Given the description of an element on the screen output the (x, y) to click on. 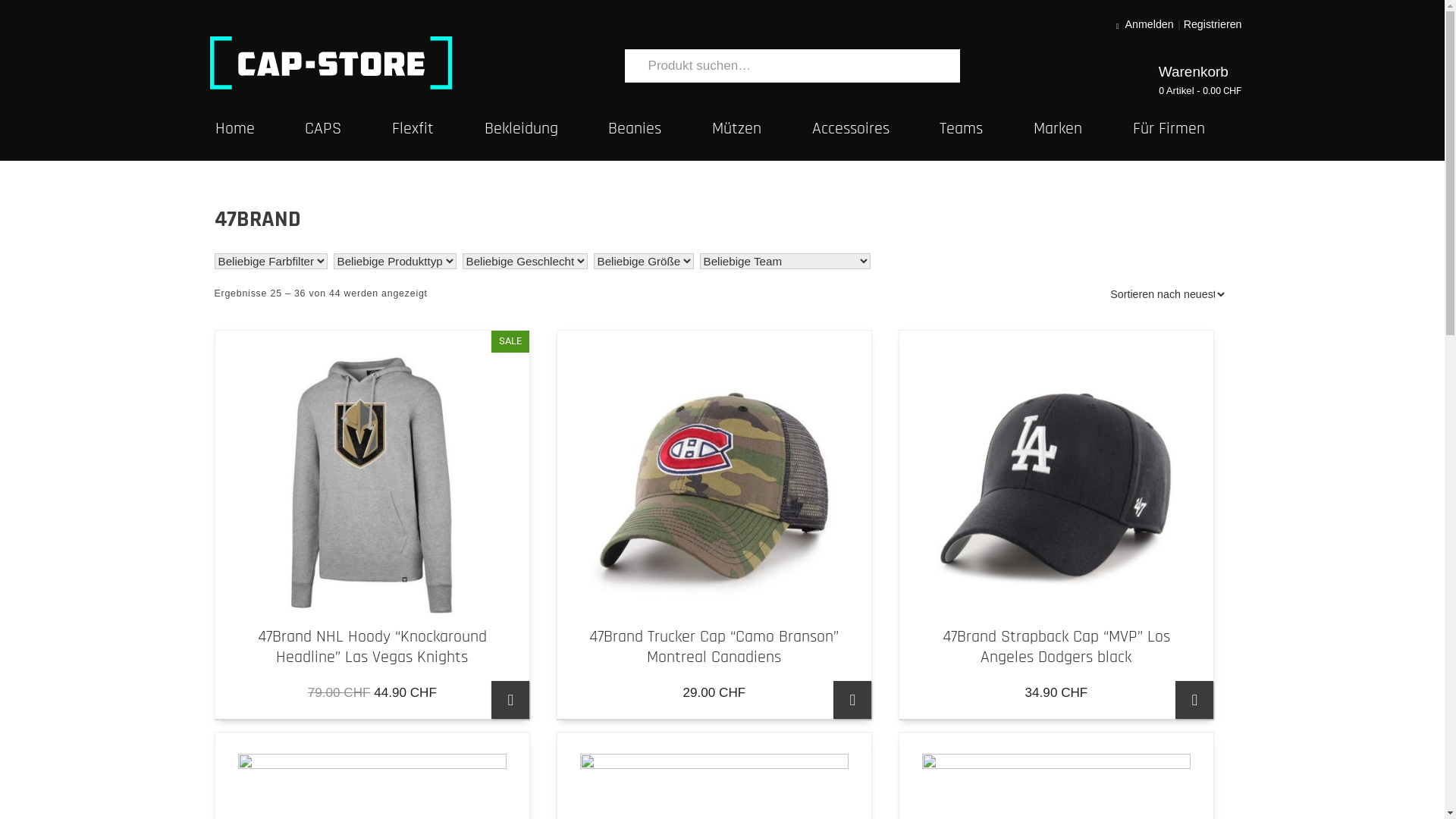
Accessoires Element type: text (876, 129)
In den Warenkorb Element type: text (852, 699)
Bekleidung Element type: text (546, 129)
Warenkorb
0 Artikel - 0.00 CHF Element type: text (1200, 80)
Anmelden Element type: text (1149, 24)
Flexfit Element type: text (438, 129)
Marken Element type: text (1082, 129)
Logo Element type: hover (330, 62)
CAPS Element type: text (348, 129)
In den Warenkorb Element type: text (1194, 699)
Suchen Element type: text (949, 61)
Beanies Element type: text (660, 129)
Teams Element type: text (986, 129)
Registrieren Element type: text (1212, 24)
Home Element type: text (260, 129)
